Given the description of an element on the screen output the (x, y) to click on. 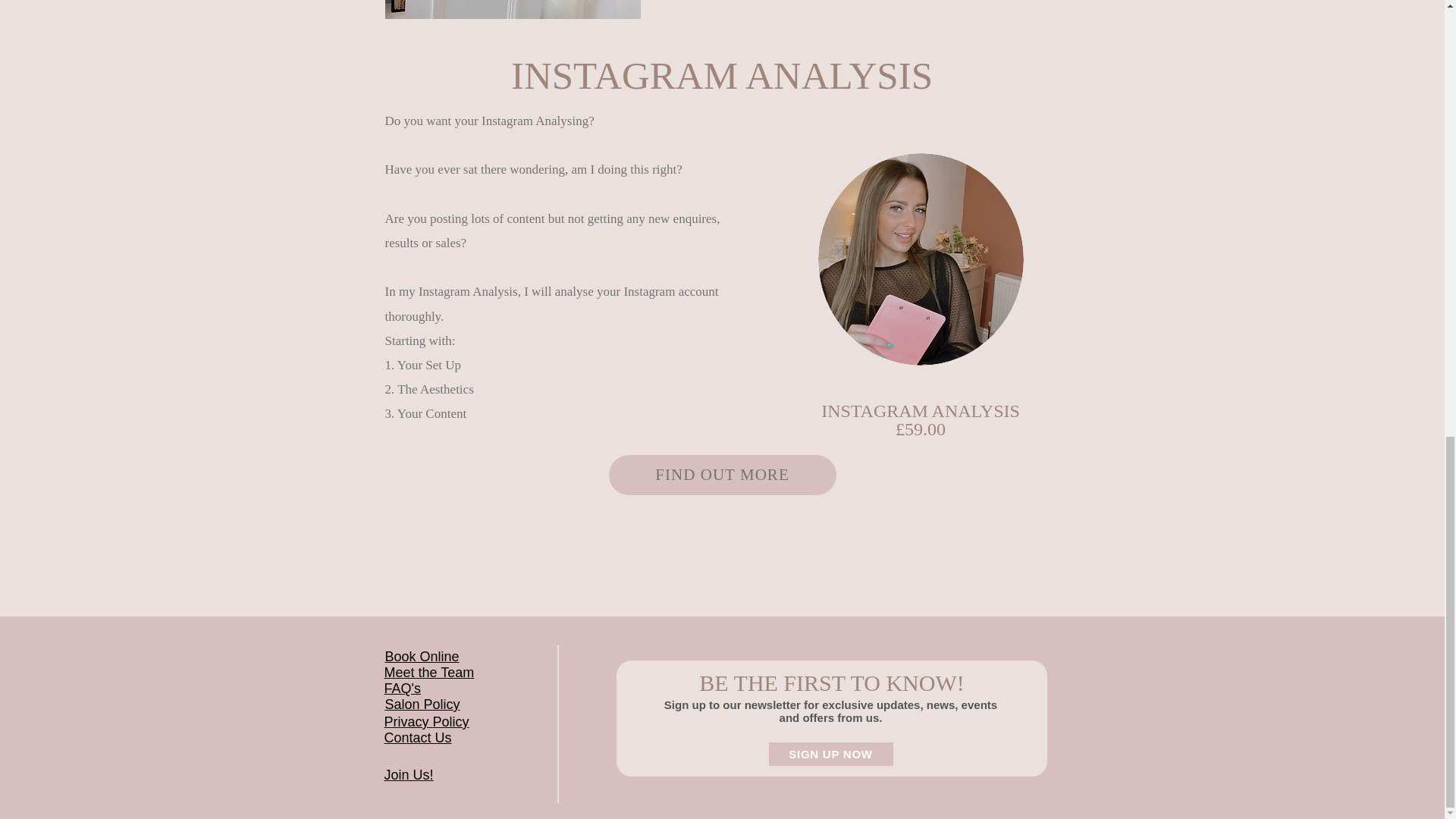
guy3.jpg (919, 259)
Privacy Policy (426, 721)
Contact Us (417, 737)
FIND OUT MORE (721, 475)
FAQ's (402, 688)
Salon Policy (422, 703)
SIGN UP NOW (830, 753)
Join Us! (408, 774)
Meet the Team (429, 672)
Book Online (422, 656)
